Given the description of an element on the screen output the (x, y) to click on. 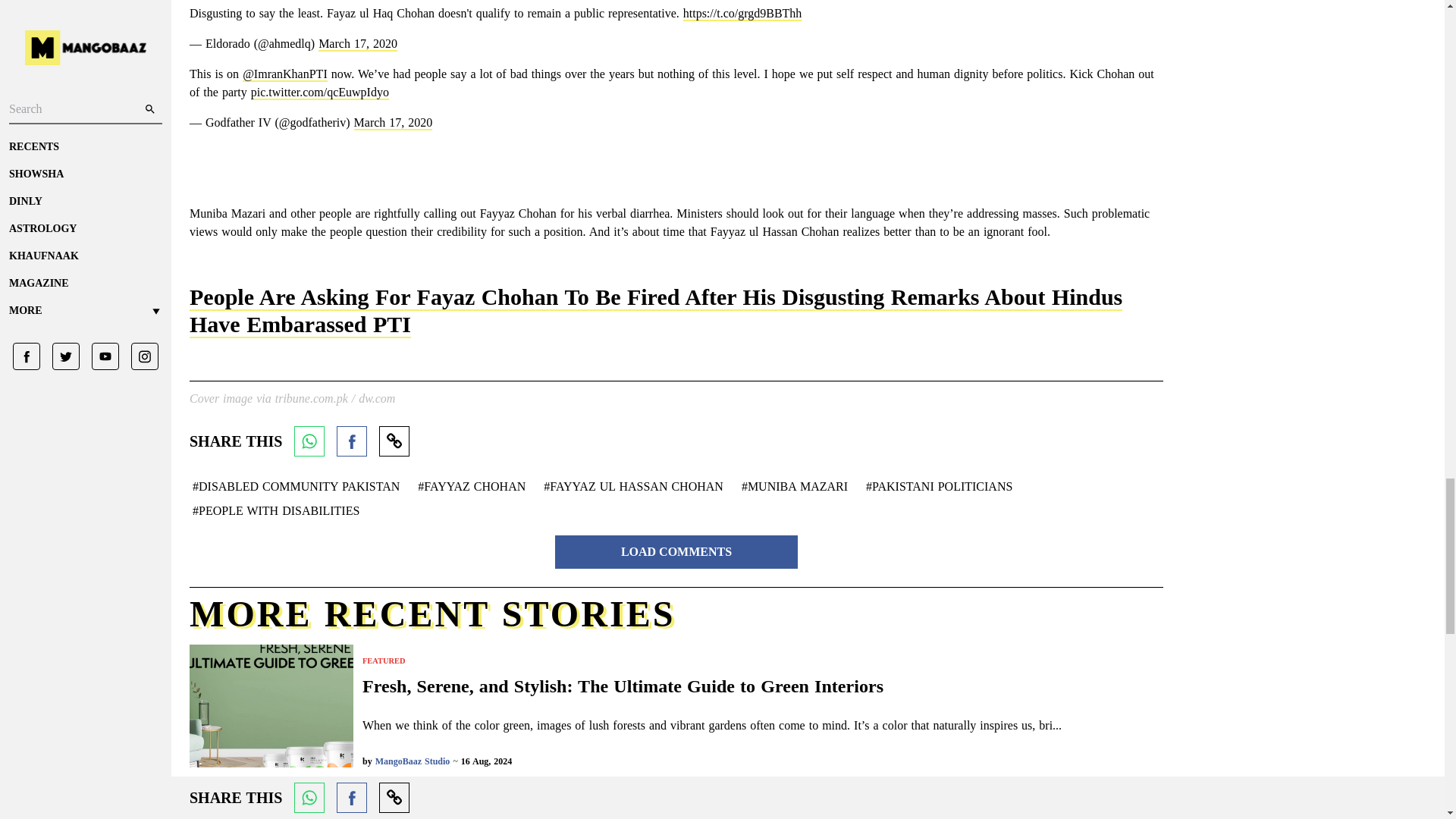
Whatsapp (309, 440)
Copy URL (393, 440)
Facebook (351, 440)
